Given the description of an element on the screen output the (x, y) to click on. 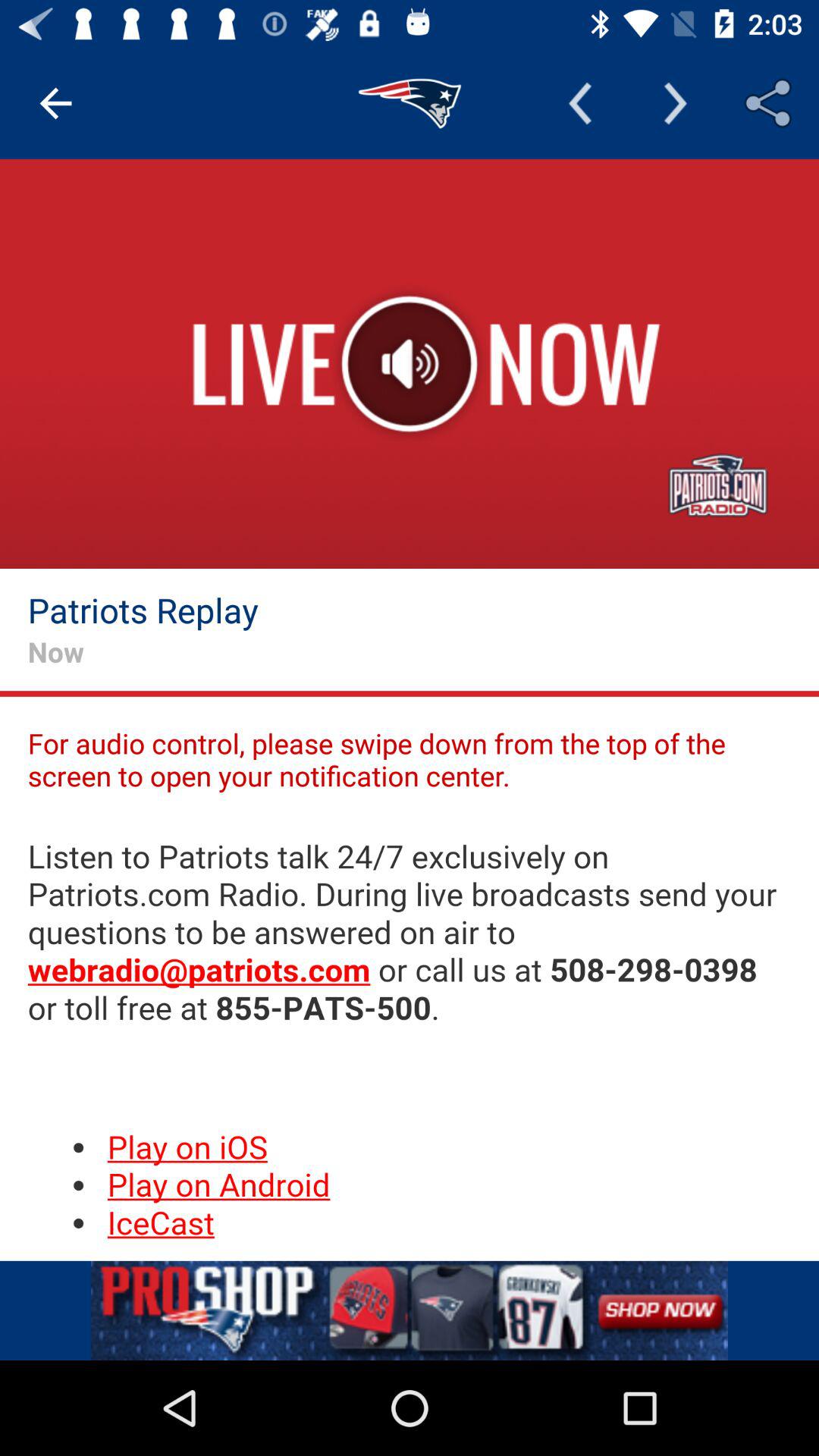
select the add image (409, 1310)
